Given the description of an element on the screen output the (x, y) to click on. 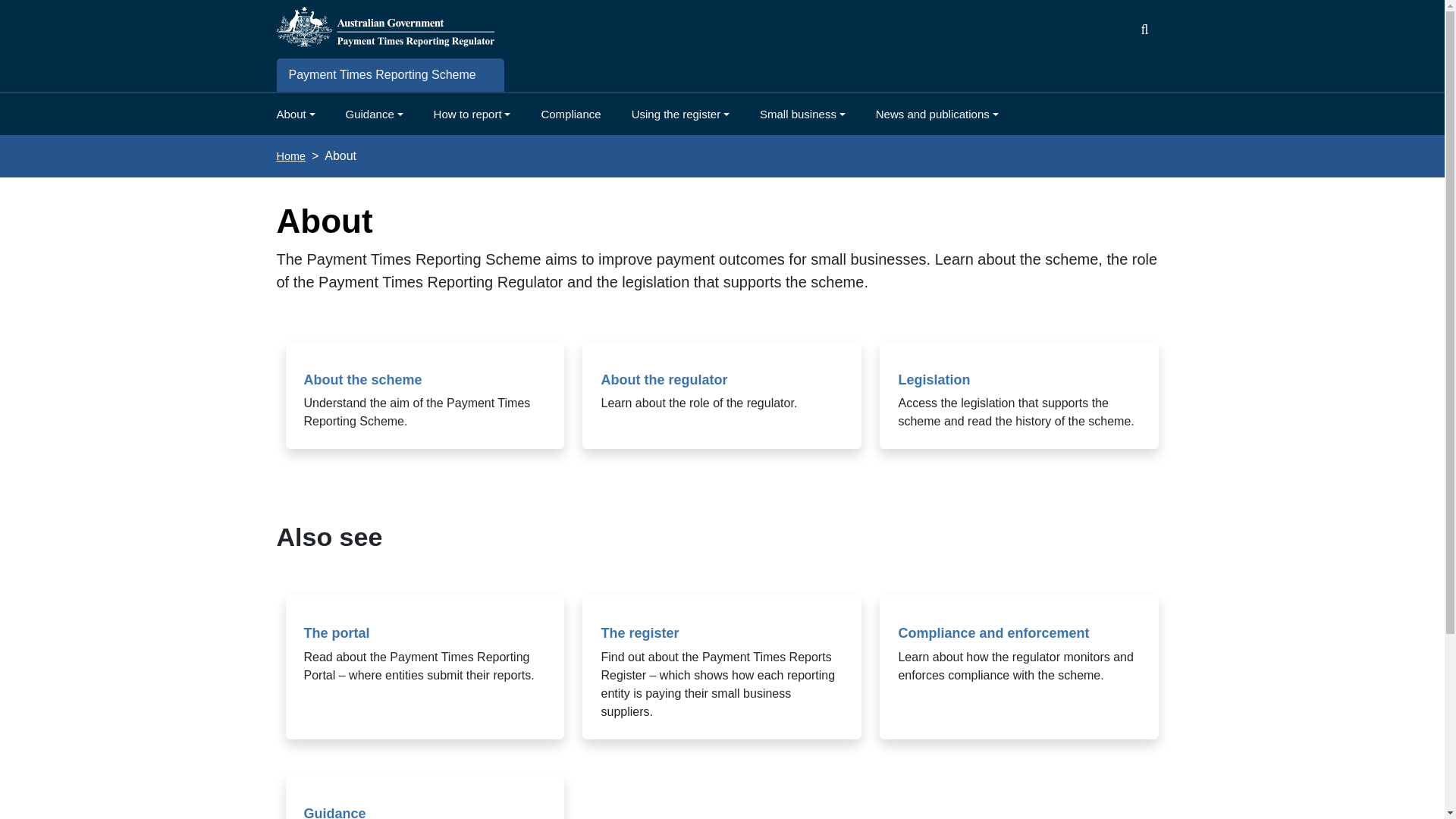
Home (290, 155)
Guidance (374, 115)
Home (384, 25)
The register (638, 632)
Guidance (333, 812)
Expand menu Small business (802, 115)
Expand menu Using the register (680, 115)
Using the register (680, 115)
About the scheme (362, 379)
About the regulator (662, 379)
How to report (472, 115)
Legislation (933, 379)
Compliance (569, 115)
Search (1425, 25)
Search (1425, 25)
